Given the description of an element on the screen output the (x, y) to click on. 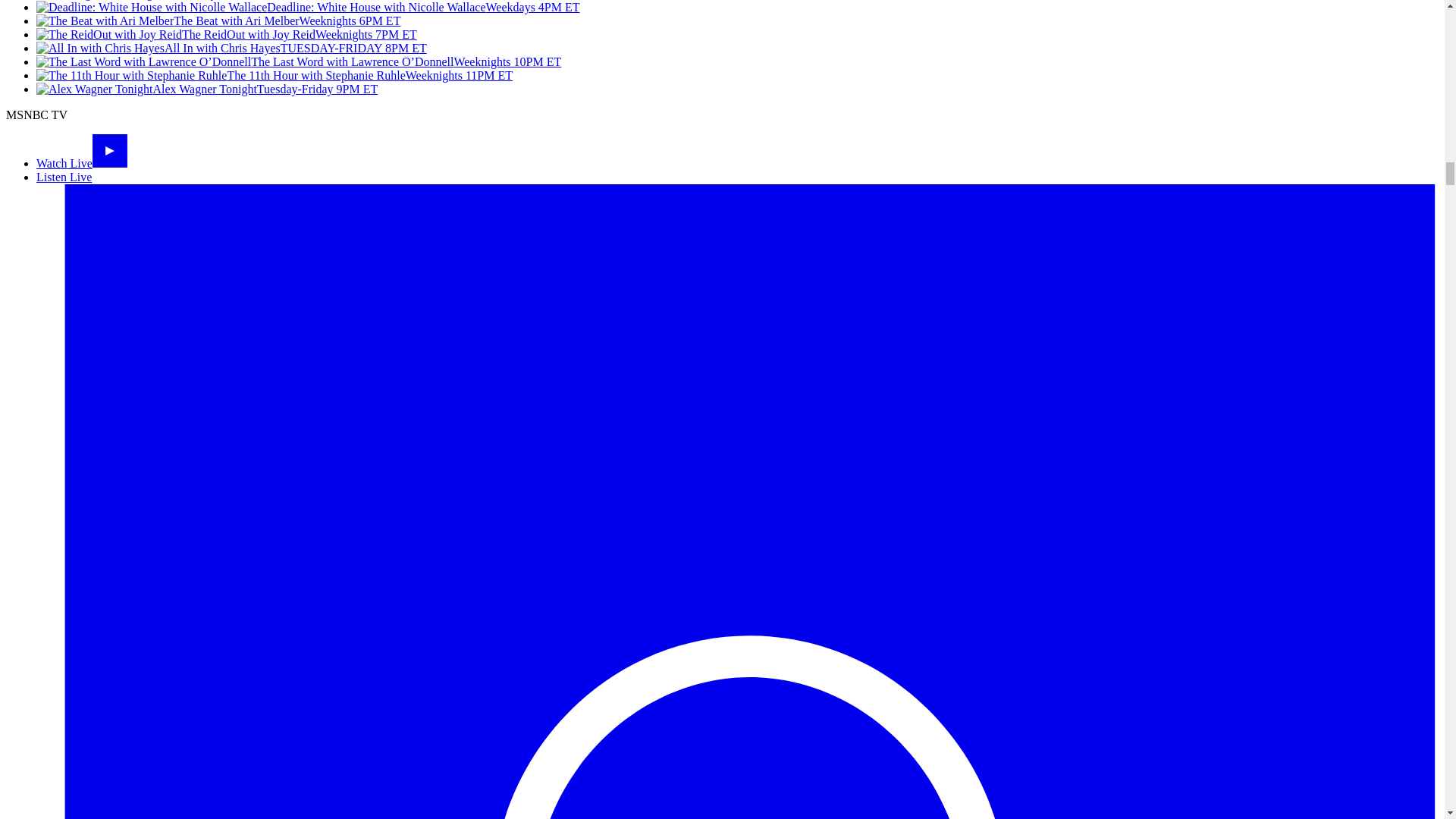
Watch Live (82, 163)
Alex Wagner TonightTuesday-Friday 9PM ET (206, 88)
The 11th Hour with Stephanie RuhleWeeknights 11PM ET (274, 74)
The Beat with Ari MelberWeeknights 6PM ET (218, 20)
The ReidOut with Joy ReidWeeknights 7PM ET (226, 33)
All In with Chris HayesTUESDAY-FRIDAY 8PM ET (231, 47)
Deadline: White House with Nicolle WallaceWeekdays 4PM ET (307, 6)
